Given the description of an element on the screen output the (x, y) to click on. 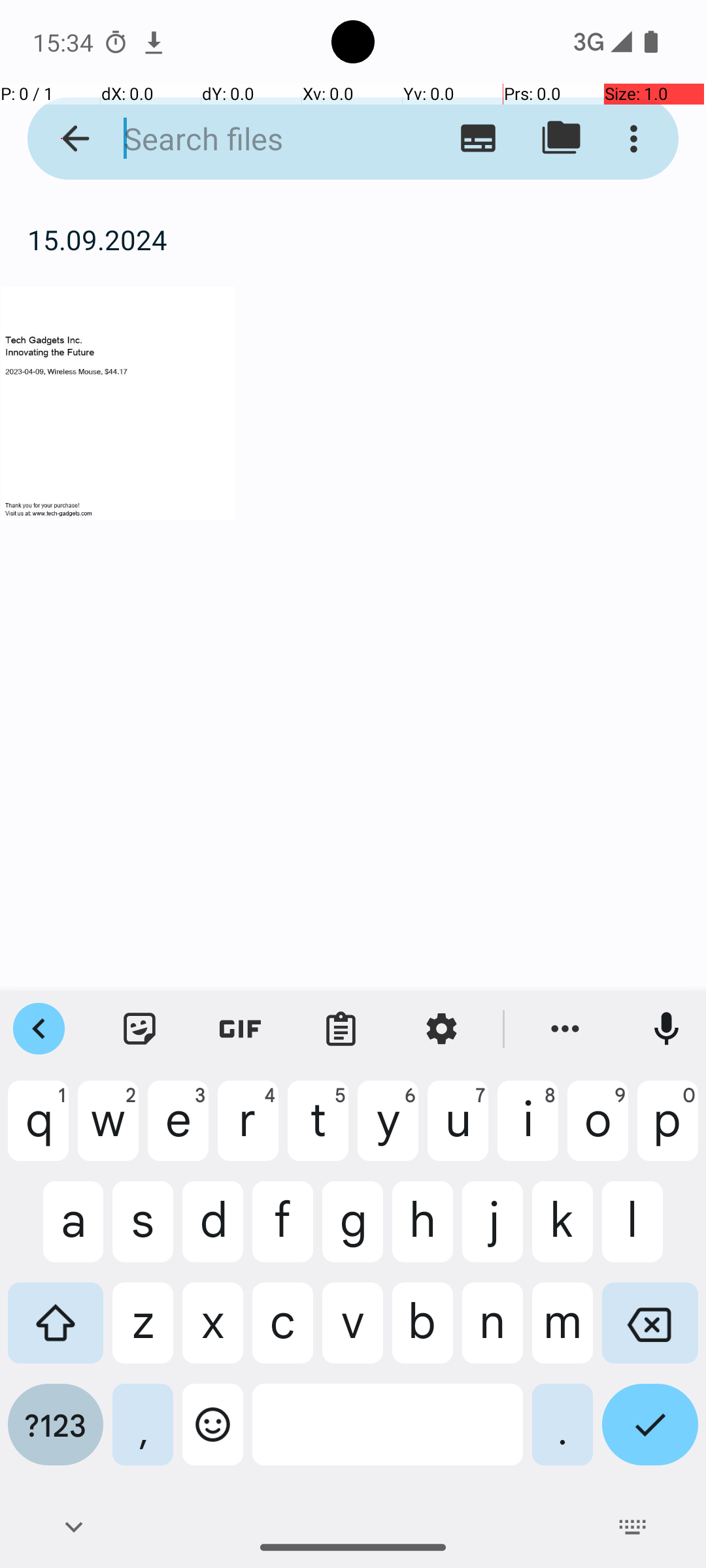
Search files Element type: android.widget.EditText (252, 138)
Switch to folder view Element type: android.widget.Button (560, 138)
15.09.2024 Element type: android.widget.TextView (353, 239)
